Given the description of an element on the screen output the (x, y) to click on. 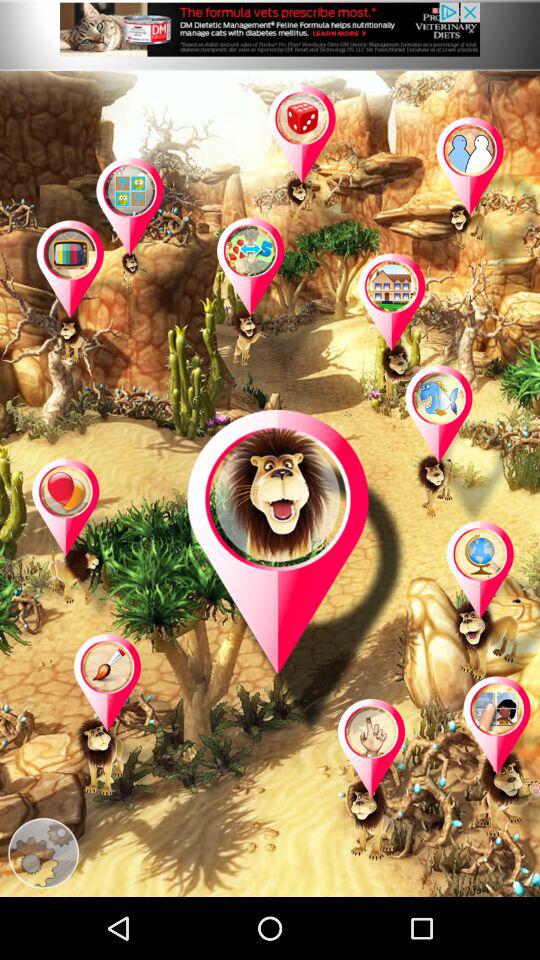
games (86, 540)
